Given the description of an element on the screen output the (x, y) to click on. 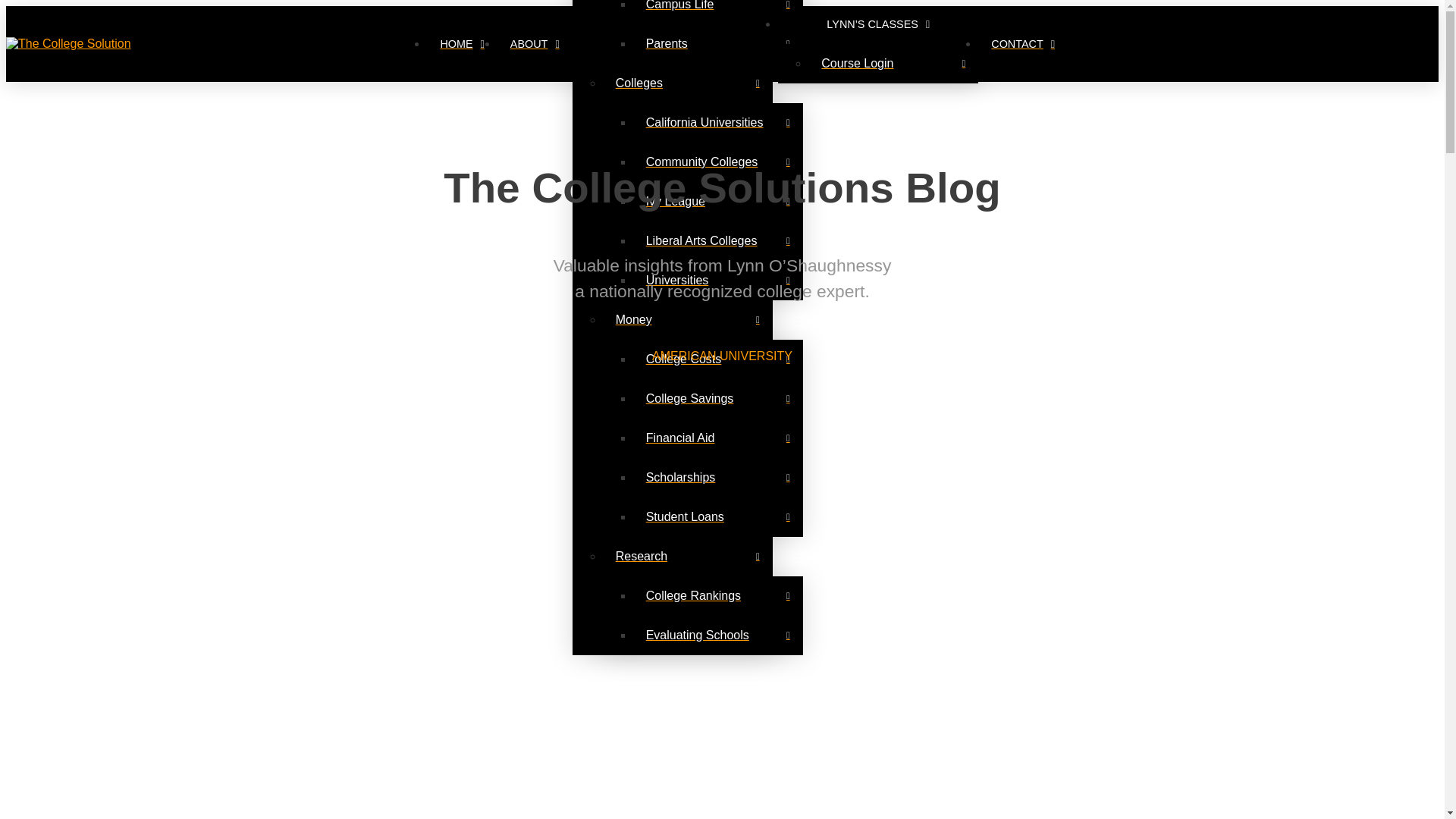
CONTACT (1022, 43)
Financial Aid (718, 437)
California Universities (718, 122)
College Costs (718, 359)
College Rankings (718, 595)
Community Colleges (718, 161)
College Savings (718, 398)
Money (687, 319)
Campus Life (718, 12)
Colleges (687, 83)
